Given the description of an element on the screen output the (x, y) to click on. 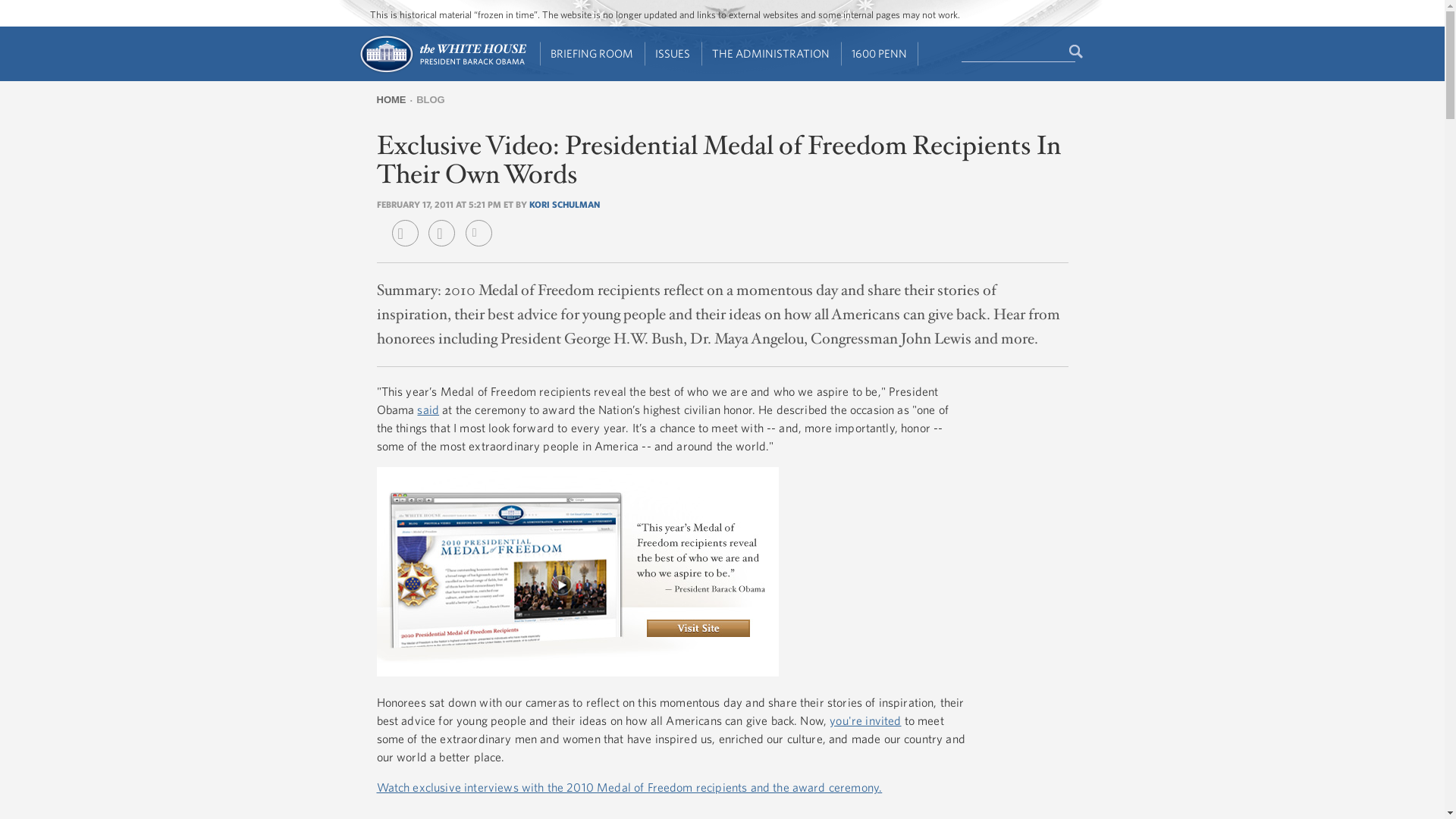
Home (441, 70)
Search (1076, 51)
ISSUES (673, 53)
Enter the terms you wish to search for. (1017, 52)
BRIEFING ROOM (592, 53)
